Given the description of an element on the screen output the (x, y) to click on. 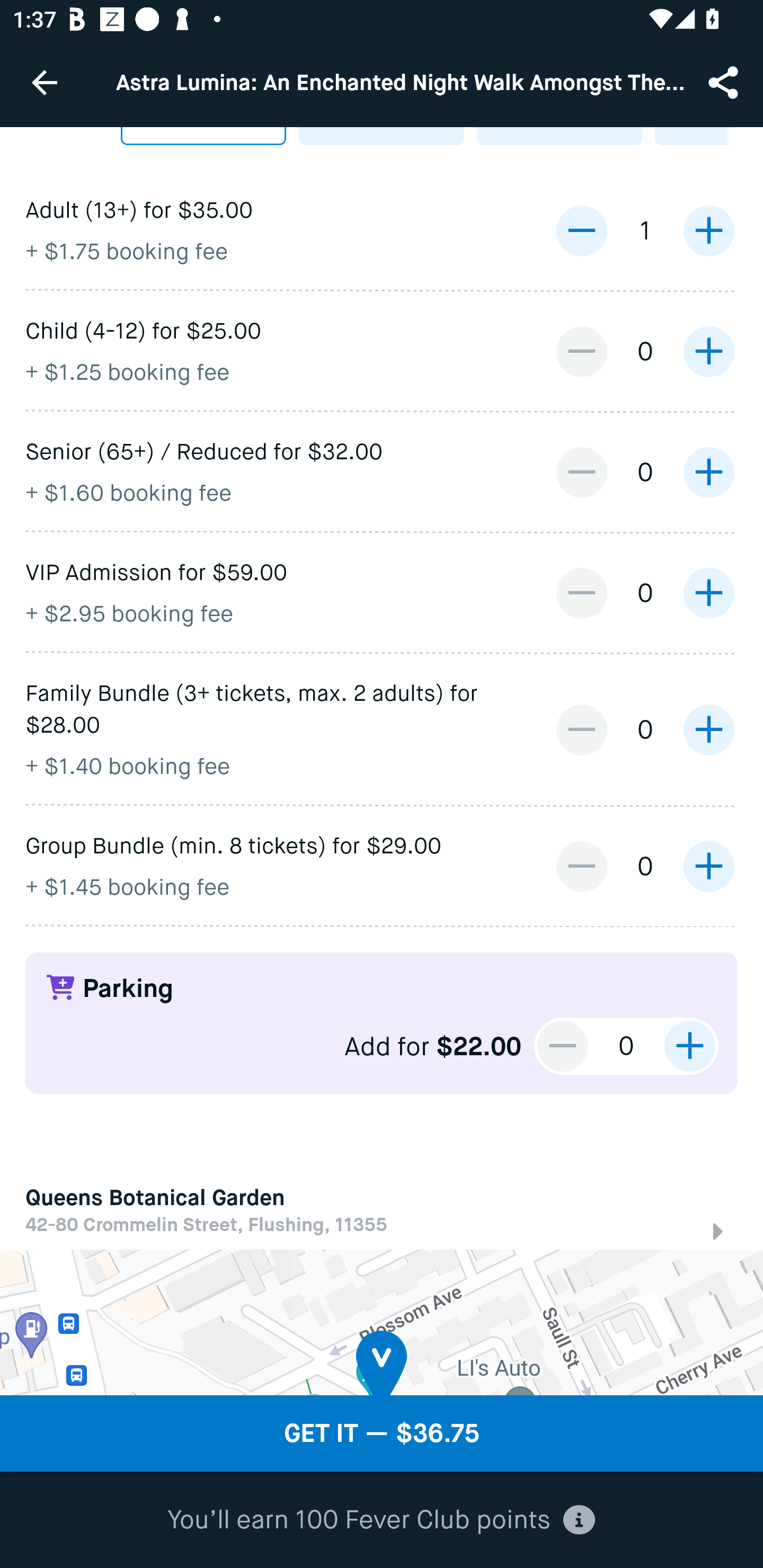
Navigate up (44, 82)
Share (724, 81)
decrease (581, 230)
increase (708, 230)
decrease (581, 351)
increase (708, 351)
decrease (581, 472)
increase (708, 472)
decrease (581, 593)
increase (708, 593)
decrease (581, 729)
increase (708, 729)
decrease (581, 865)
increase (708, 865)
decrease (562, 1046)
increase (689, 1046)
Google Map Map Marker (381, 1322)
GET IT — $36.75 (381, 1433)
You’ll earn 100 Fever Club points (381, 1519)
